Given the description of an element on the screen output the (x, y) to click on. 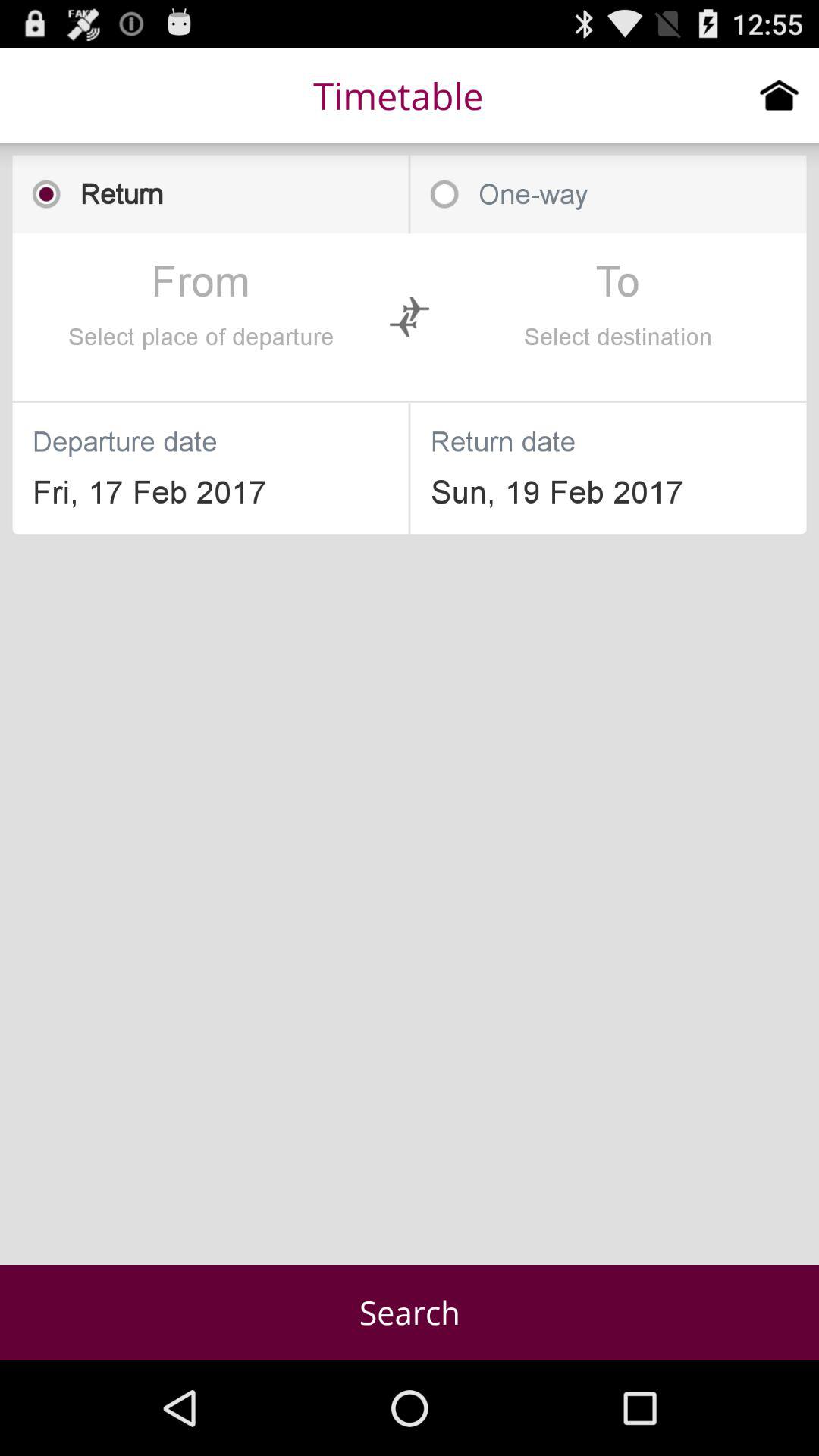
select the one-way icon (608, 194)
